Given the description of an element on the screen output the (x, y) to click on. 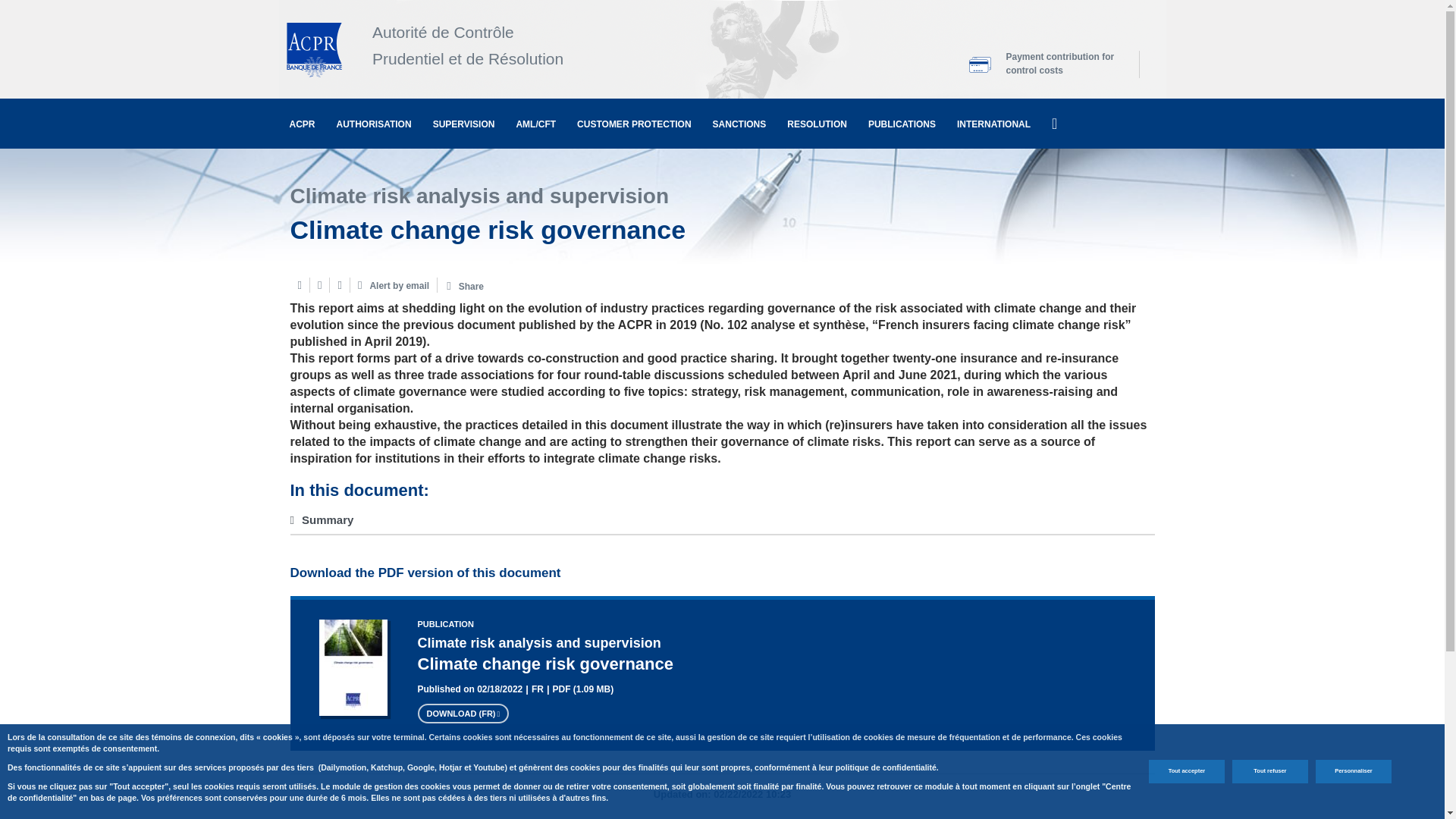
Tout accepter (1186, 771)
Print (298, 285)
PDF (339, 285)
Personnaliser (1353, 771)
Tout refuser (1269, 771)
Alert by email (393, 284)
Email (319, 285)
